Given the description of an element on the screen output the (x, y) to click on. 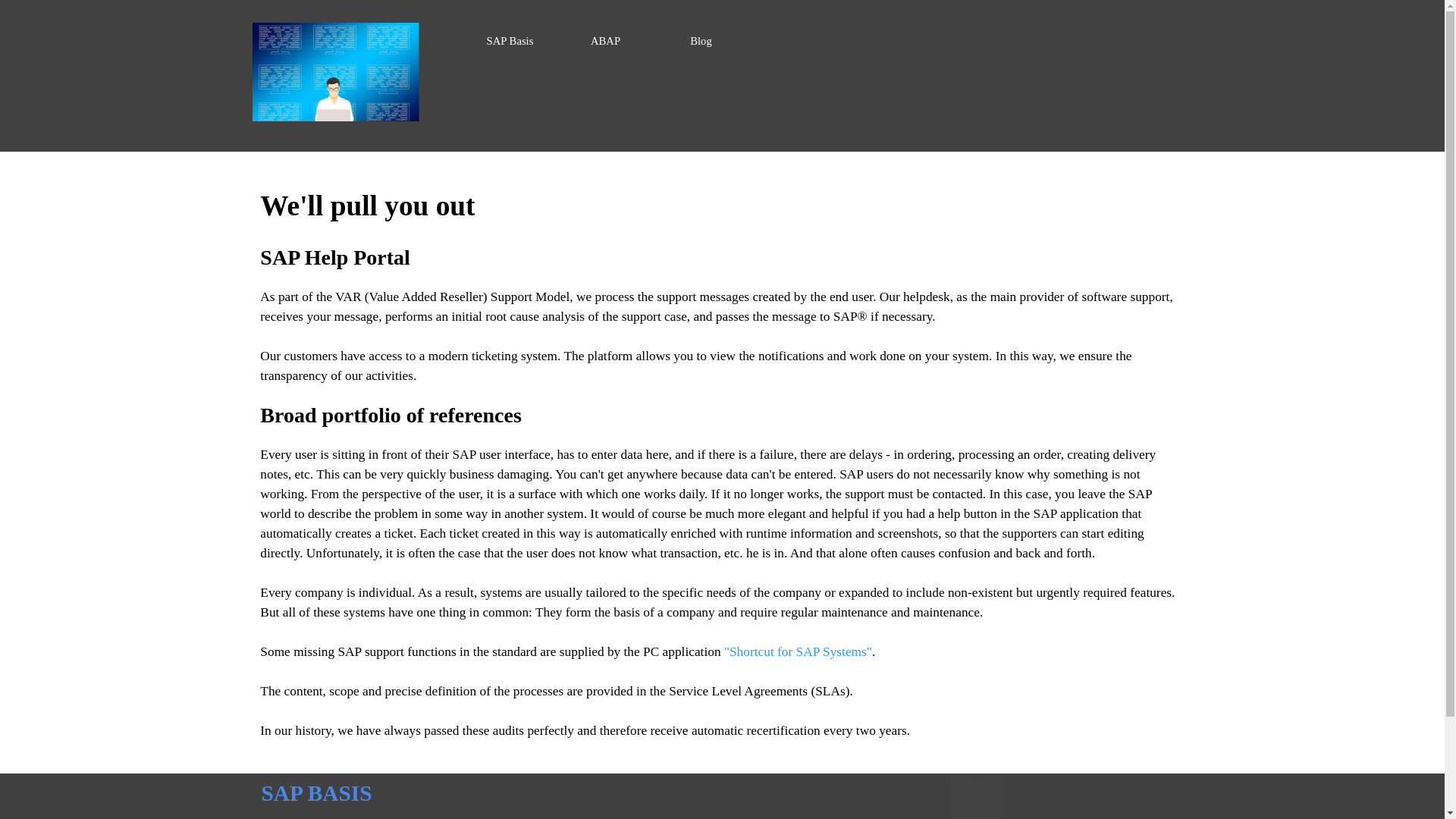
ABAP (605, 40)
Impressum (672, 815)
Kontakt (438, 815)
"Shortcut for SAP Systems" (797, 651)
SAP Basis (509, 40)
Blog (700, 40)
